Given the description of an element on the screen output the (x, y) to click on. 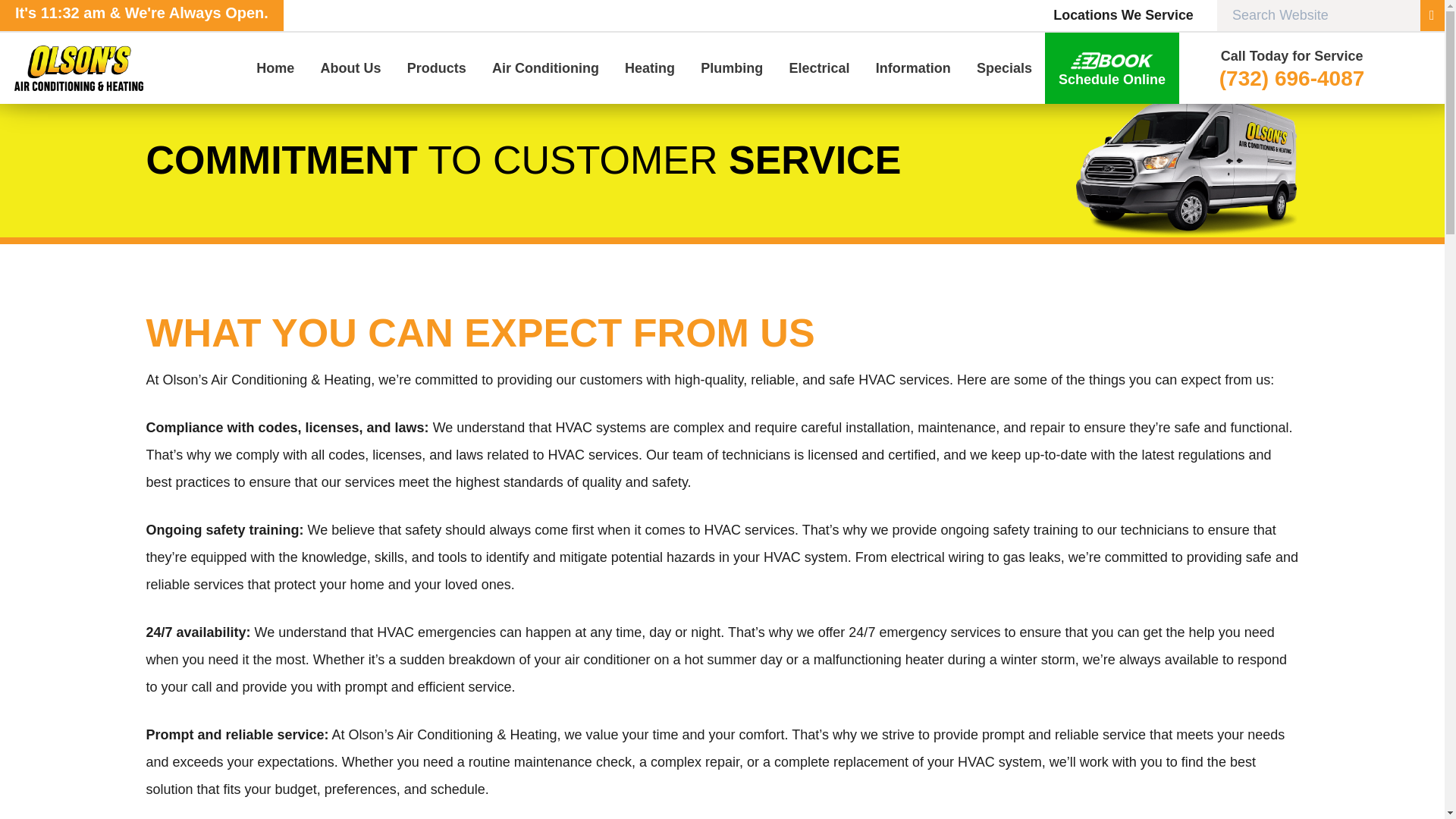
Air Conditioning (545, 68)
Heating (649, 68)
Plumbing (731, 68)
Products (436, 68)
About Us (350, 68)
Home (275, 68)
Locations We Service (1122, 15)
